Given the description of an element on the screen output the (x, y) to click on. 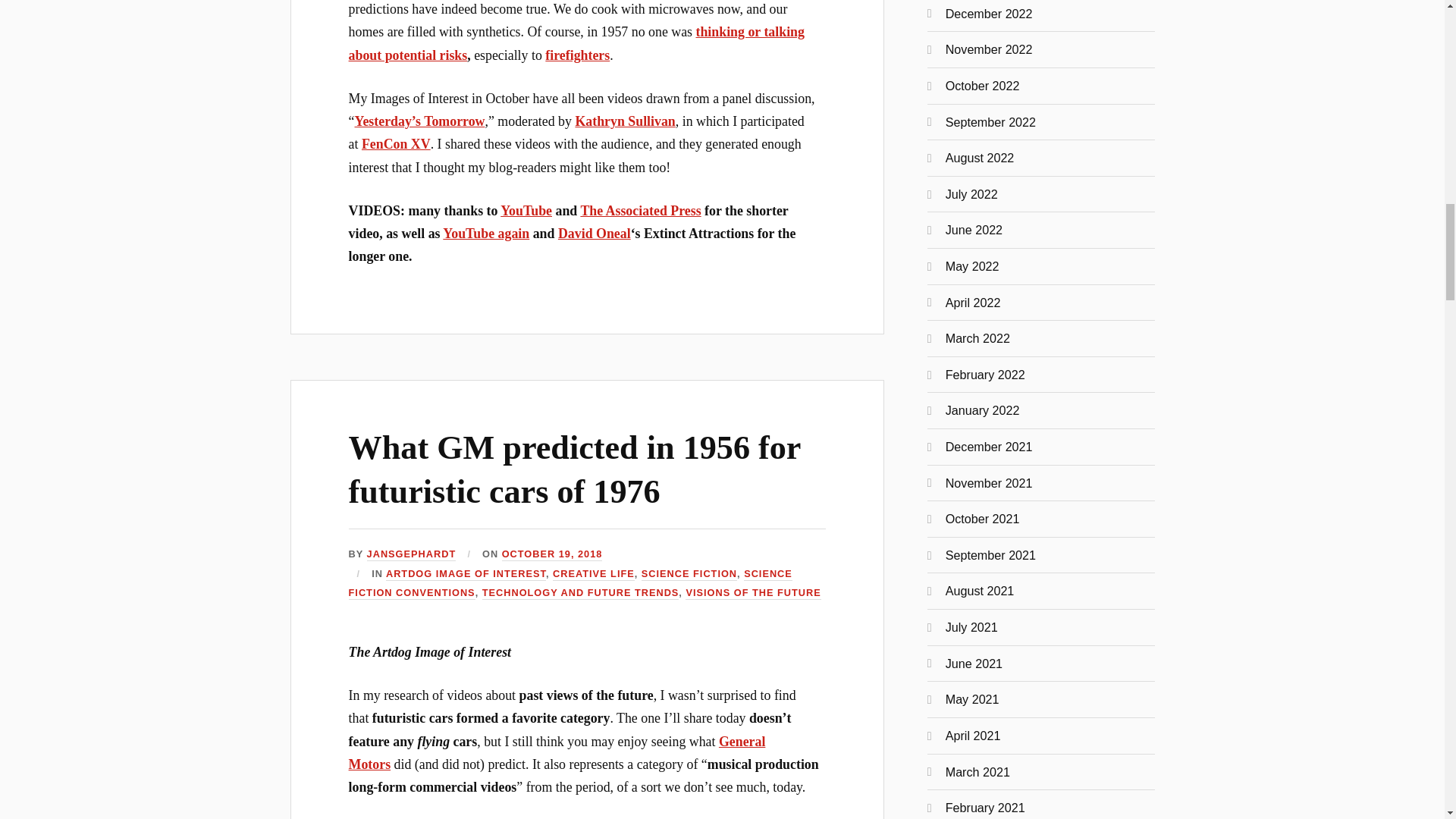
Kathryn Sullivan (625, 120)
Posts by jansgephardt (411, 554)
thinking or talking about potential risks (577, 43)
The Associated Press (639, 210)
firefighters (577, 54)
YouTube (525, 210)
FenCon XV (395, 143)
YouTube again (485, 233)
